Given the description of an element on the screen output the (x, y) to click on. 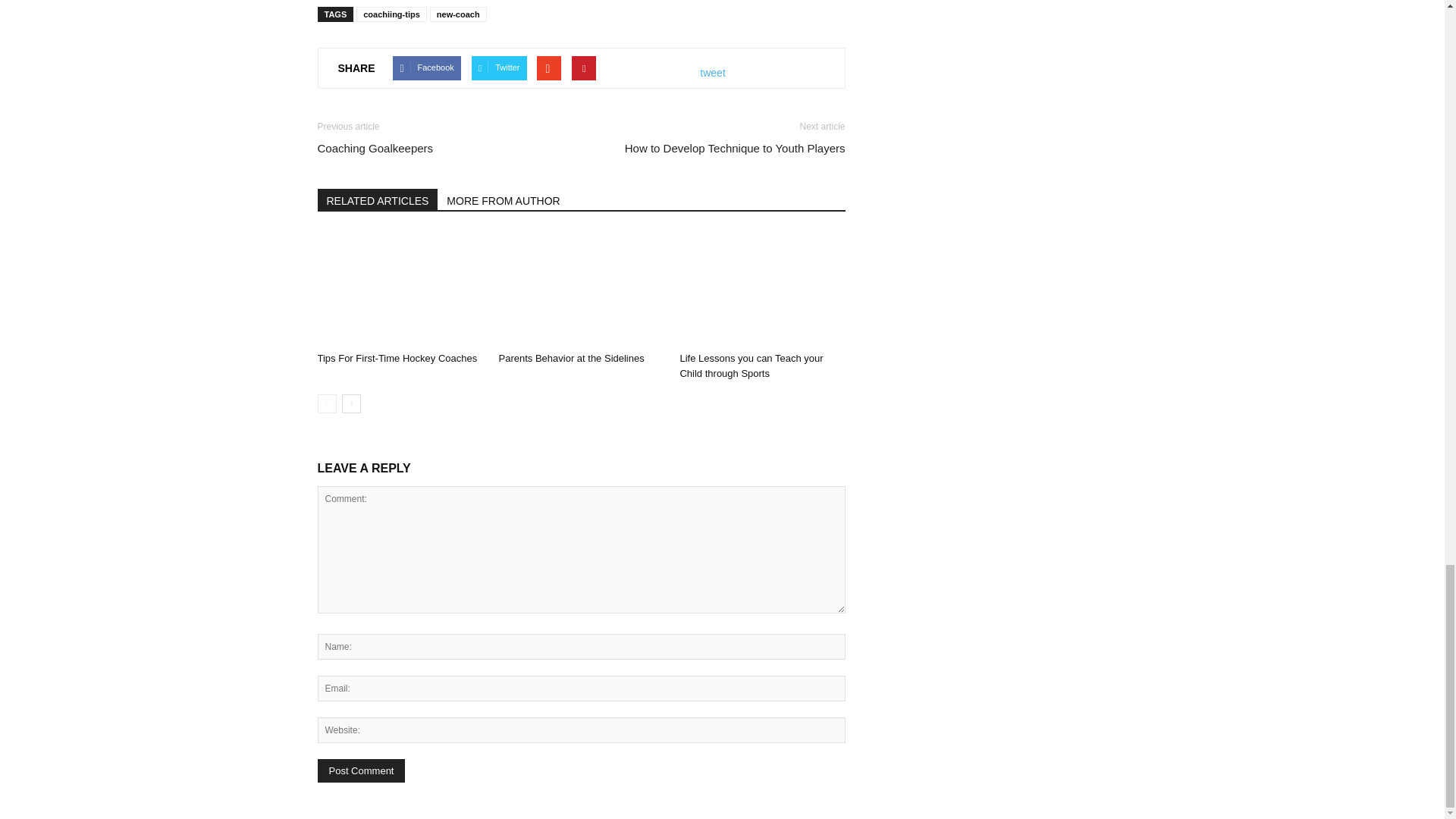
Parents Behavior at the Sidelines (570, 357)
Post Comment (360, 770)
Tips For First-Time Hockey Coaches (397, 357)
Tips For First-Time Hockey Coaches (399, 288)
Parents Behavior at the Sidelines (580, 288)
Life Lessons you can Teach your Child through Sports (761, 288)
coachiing-tips (391, 14)
